Given the description of an element on the screen output the (x, y) to click on. 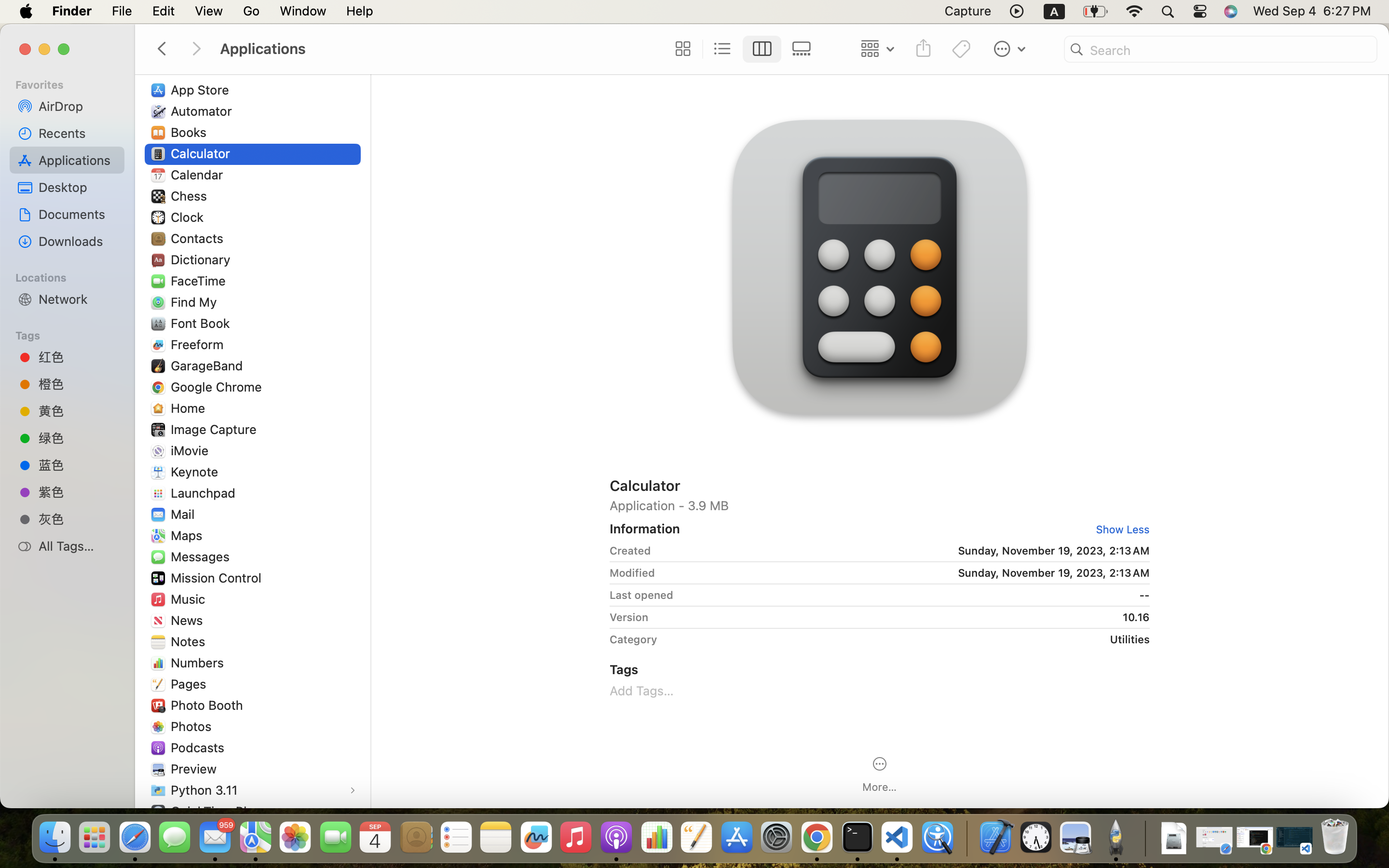
Pages Element type: AXTextField (190, 683)
Find My Element type: AXTextField (195, 301)
